Given the description of an element on the screen output the (x, y) to click on. 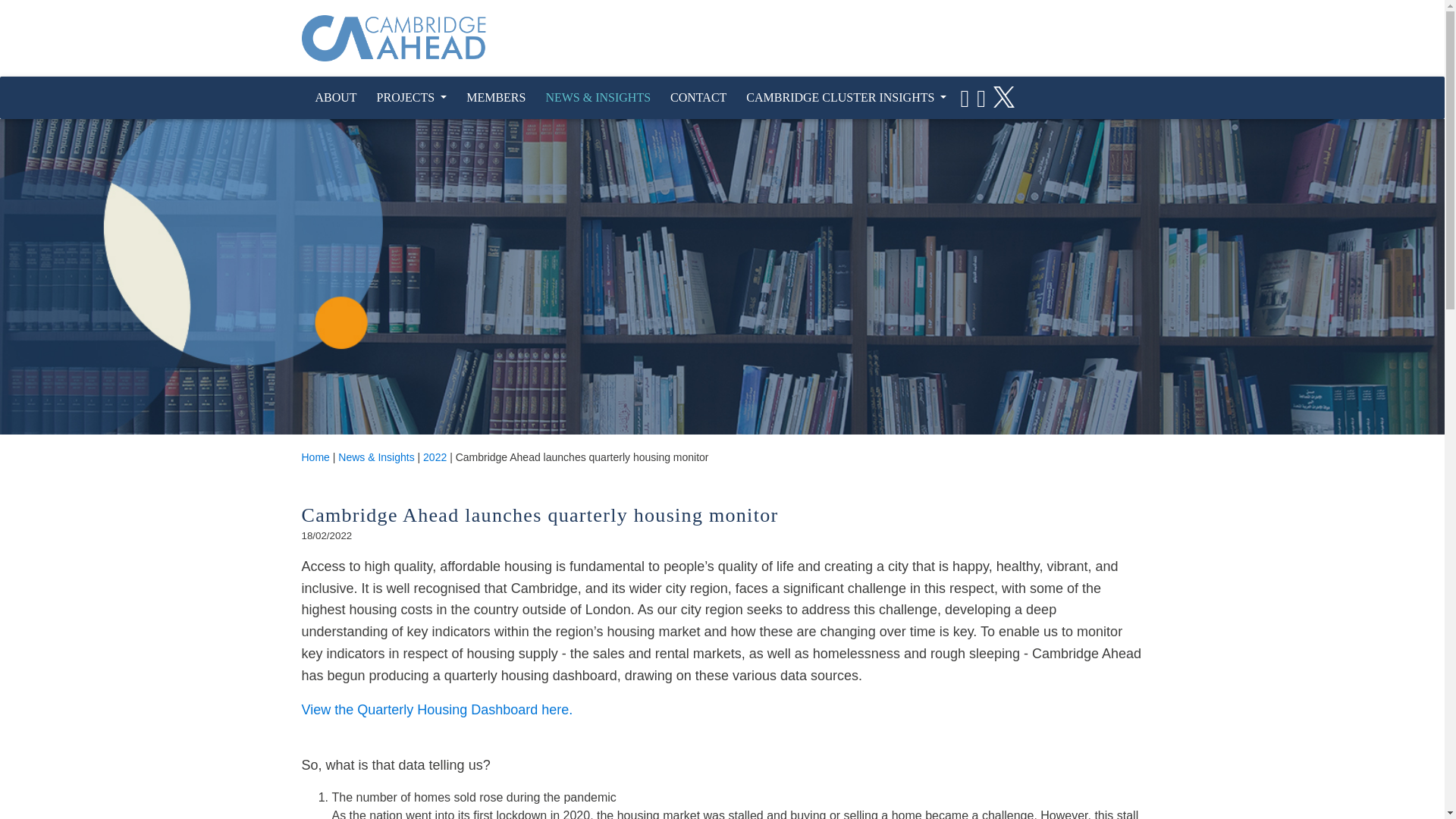
2022 (434, 457)
CONTACT (697, 97)
View the Quarterly Housing Dashboard here. (437, 709)
Home (315, 457)
CAMBRIDGE CLUSTER INSIGHTS (845, 97)
Housing Dashboard January 2022 FOR PUBLICATION FINAL (437, 709)
PROJECTS (411, 97)
MEMBERS (495, 97)
ABOUT (335, 97)
